Given the description of an element on the screen output the (x, y) to click on. 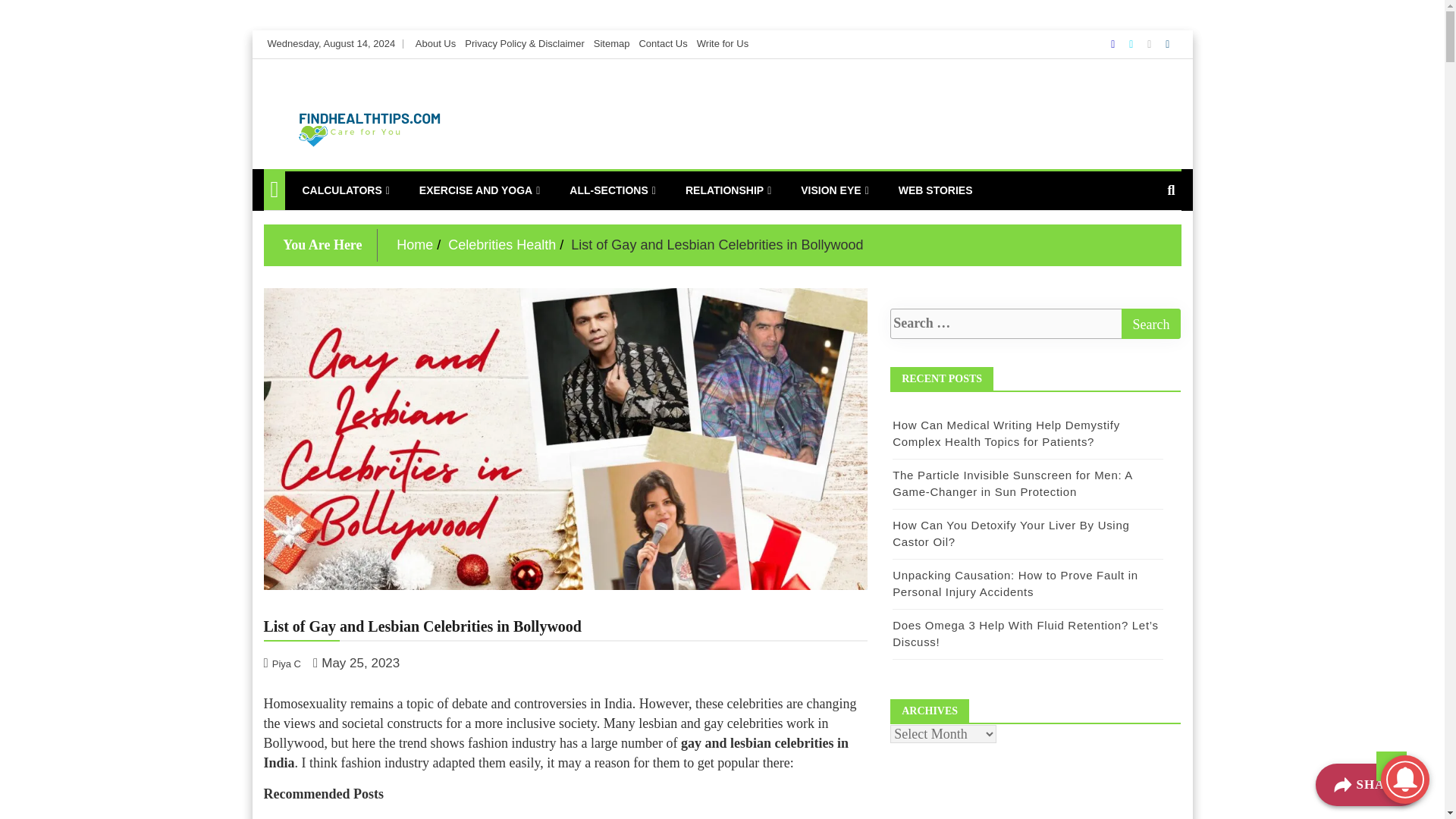
Sitemap (612, 43)
EXERCISE AND YOGA (479, 190)
Write for Us (722, 43)
Search (1150, 323)
Search (1150, 323)
About Us (434, 43)
Contact Us (663, 43)
CALCULATORS (344, 190)
